Given the description of an element on the screen output the (x, y) to click on. 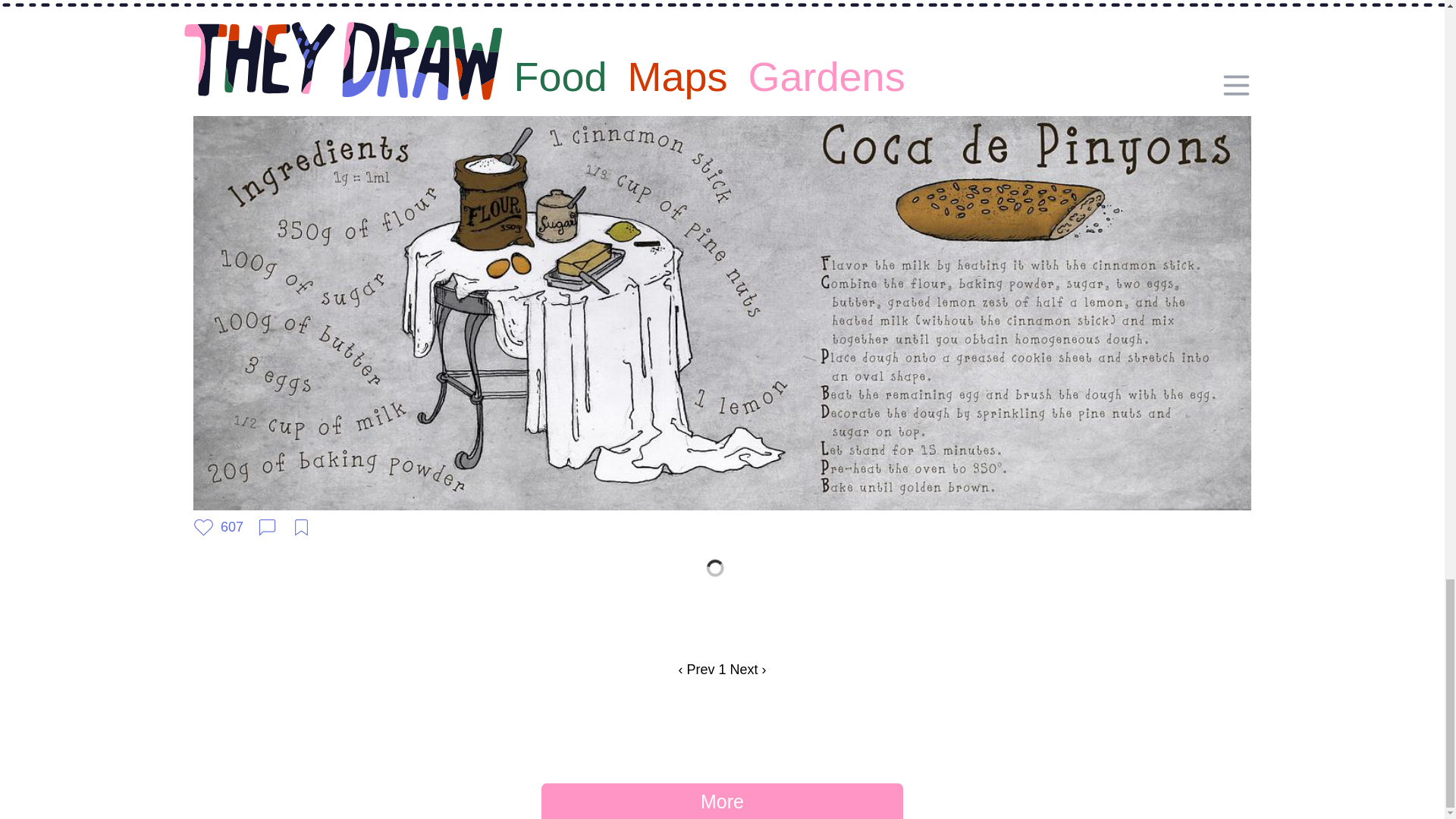
198 (218, 20)
Give Heart (218, 20)
Add to Favorites (301, 20)
Add to Favorites (301, 526)
Give Heart (218, 526)
